Given the description of an element on the screen output the (x, y) to click on. 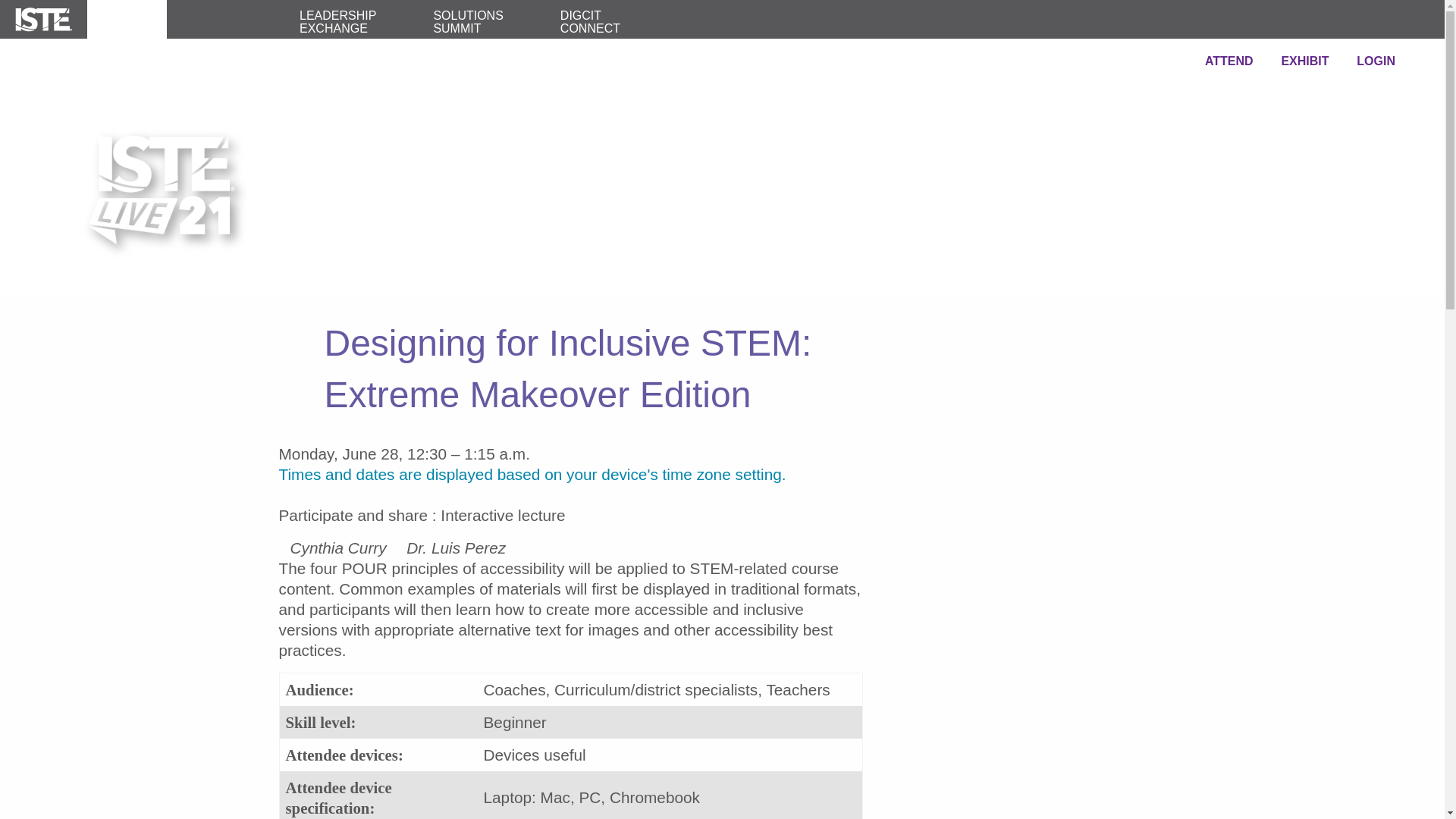
LOGIN (1375, 60)
